Given the description of an element on the screen output the (x, y) to click on. 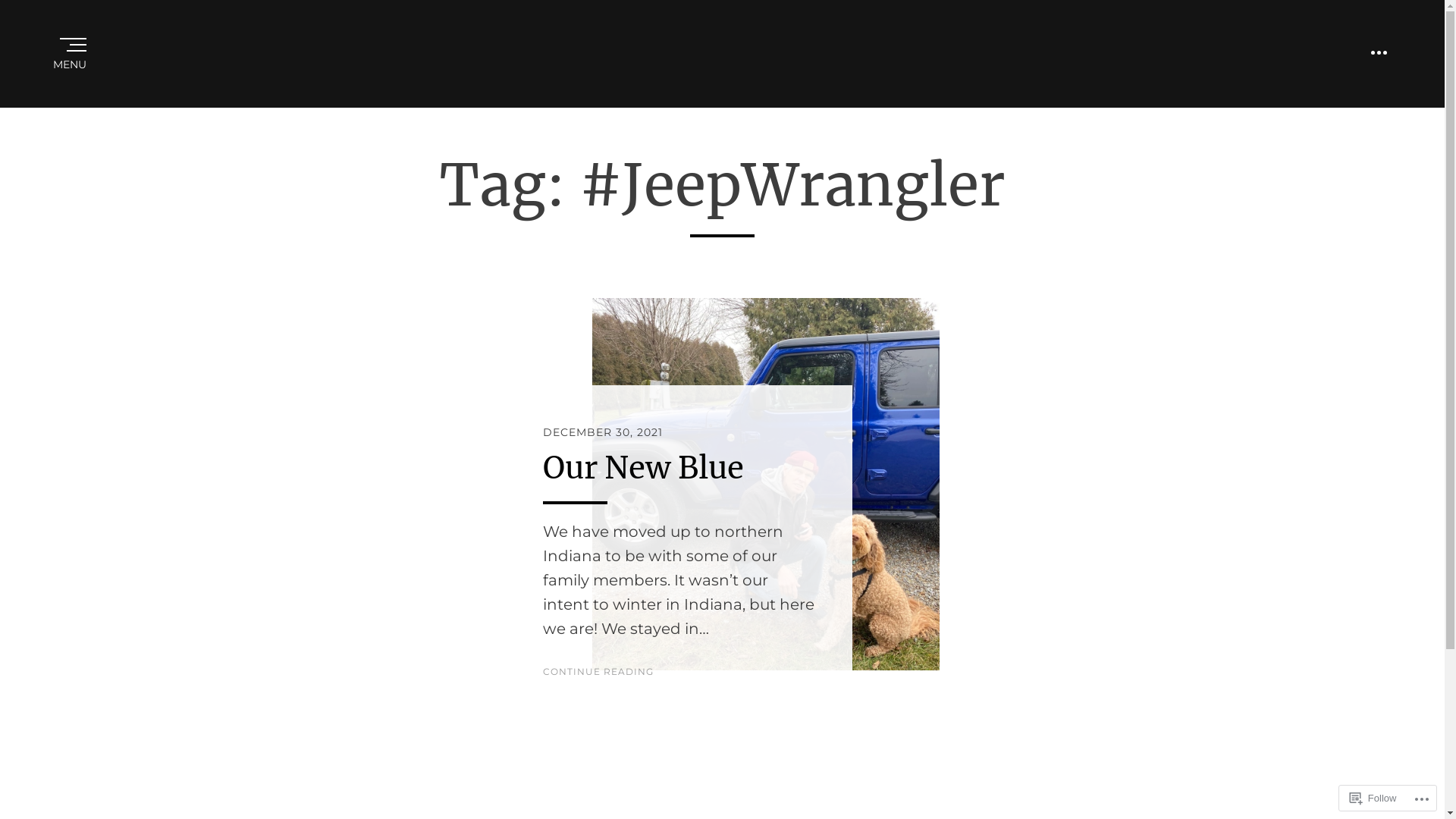
DECEMBER 30, 2021 Element type: text (602, 432)
Follow Element type: text (1372, 797)
CONTINUE READING Element type: text (597, 671)
MENU Element type: text (71, 53)
Our New Blue Element type: text (642, 467)
